Given the description of an element on the screen output the (x, y) to click on. 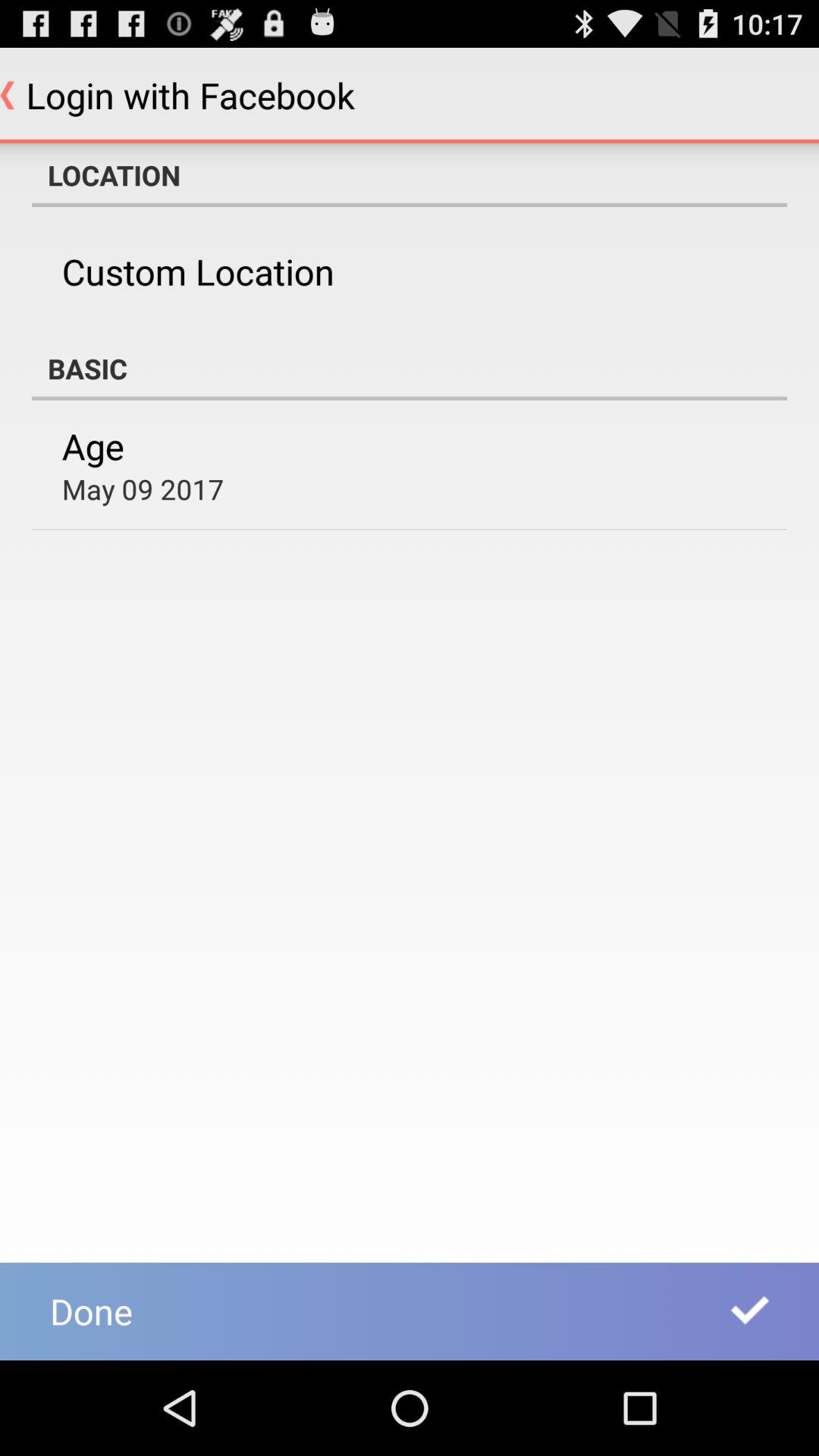
open may 09 2017 item (142, 488)
